Given the description of an element on the screen output the (x, y) to click on. 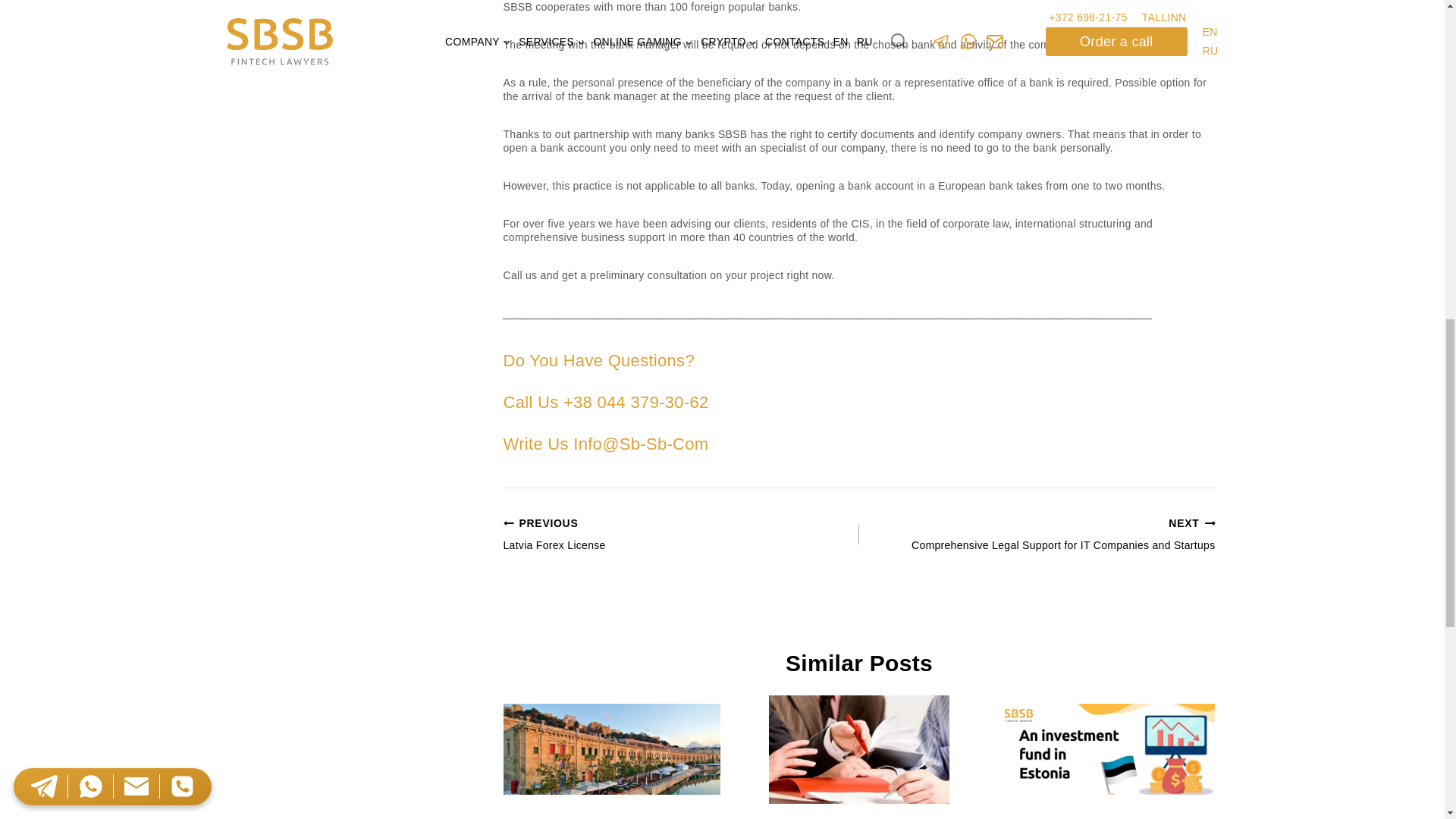
Registering a fintech company in Malta (611, 749)
An investment fund in Estonia (1105, 749)
